Given the description of an element on the screen output the (x, y) to click on. 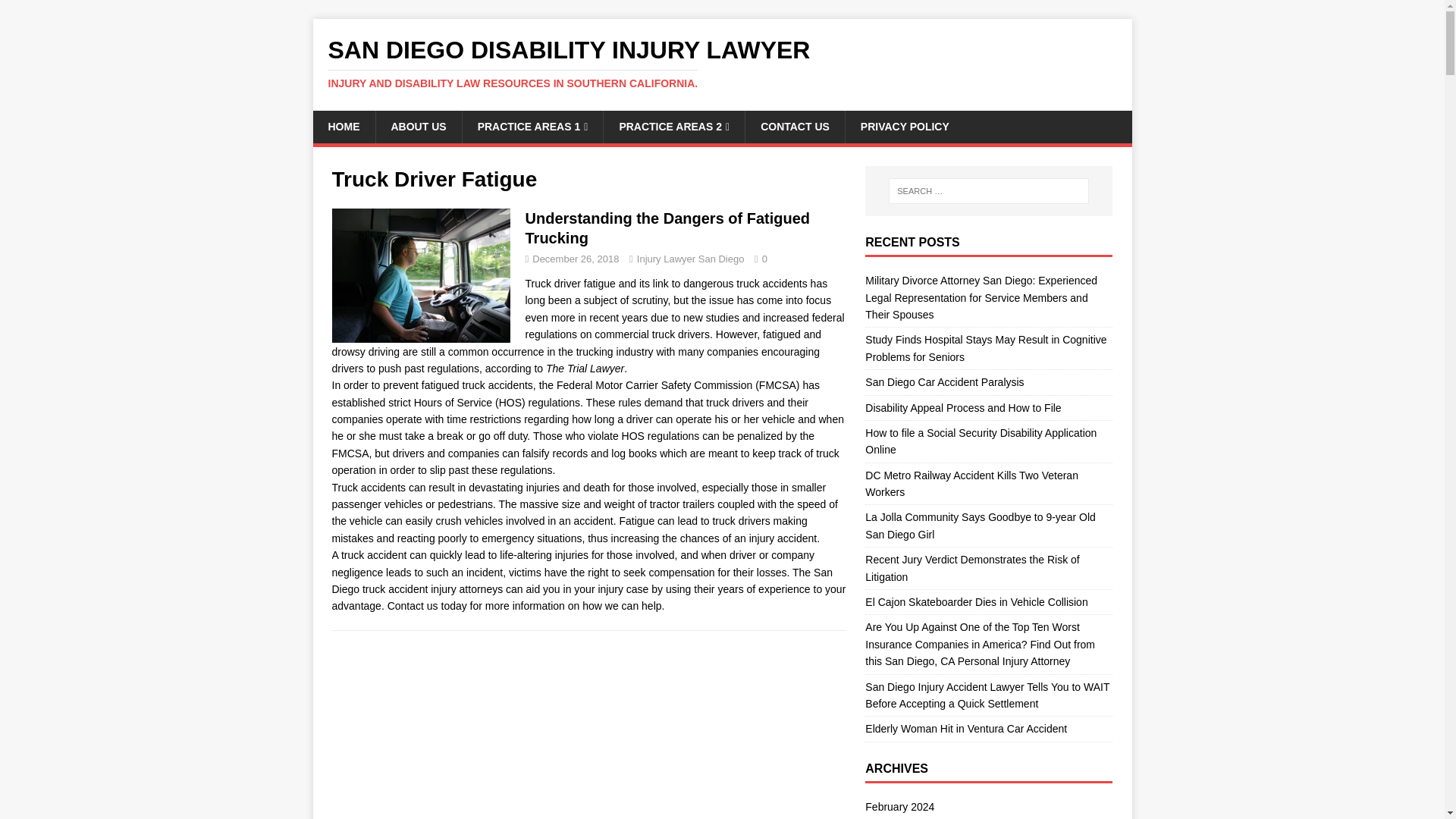
February 2024 (988, 808)
ABOUT US (417, 126)
How to file a Social Security Disability Application Online (980, 440)
PRACTICE AREAS 2 (673, 126)
Understanding the Dangers of Fatigued Trucking (666, 227)
Elderly Woman Hit in Ventura Car Accident (965, 728)
PRIVACY POLICY (903, 126)
Disability Appeal Process and How to File (962, 408)
CONTACT US (794, 126)
